Given the description of an element on the screen output the (x, y) to click on. 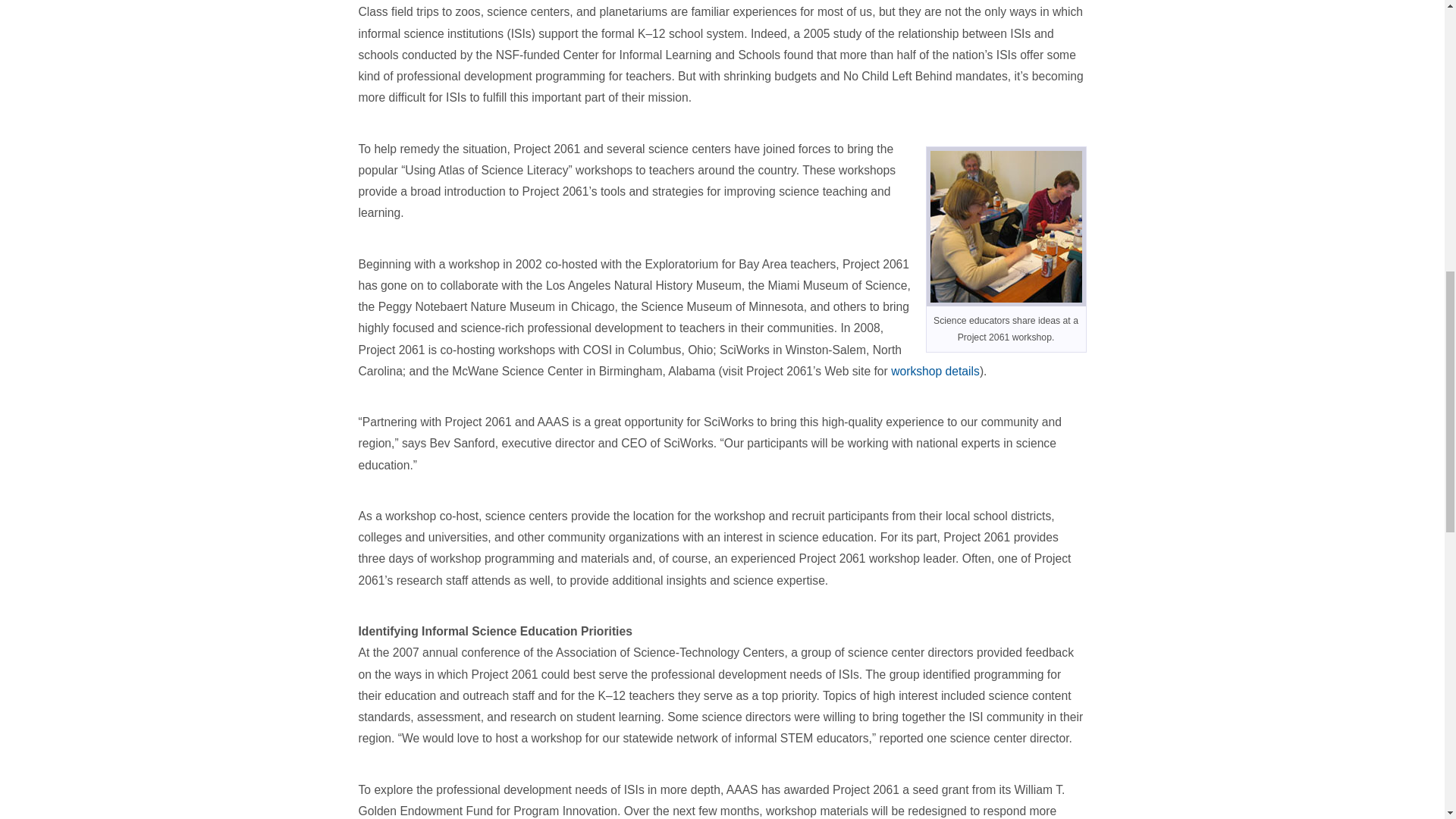
workshop details (935, 370)
